Given the description of an element on the screen output the (x, y) to click on. 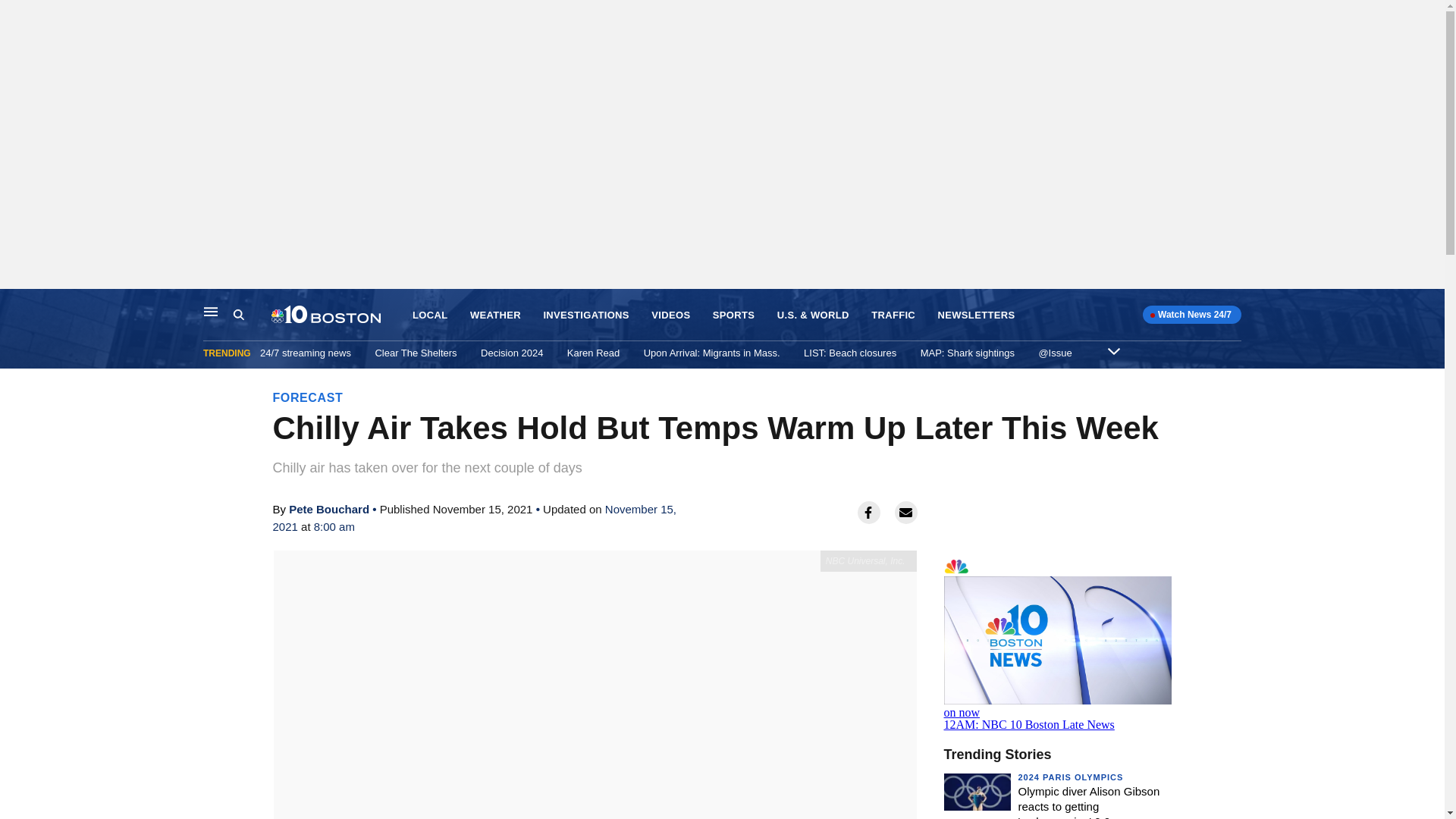
2024 PARIS OLYMPICS (1069, 777)
MAP: Shark sightings (967, 352)
Expand (1113, 350)
FORECAST (308, 397)
INVESTIGATIONS (585, 315)
Skip to content (16, 304)
Pete Bouchard (328, 508)
WEATHER (495, 315)
Search (252, 314)
NEWSLETTERS (975, 315)
